Given the description of an element on the screen output the (x, y) to click on. 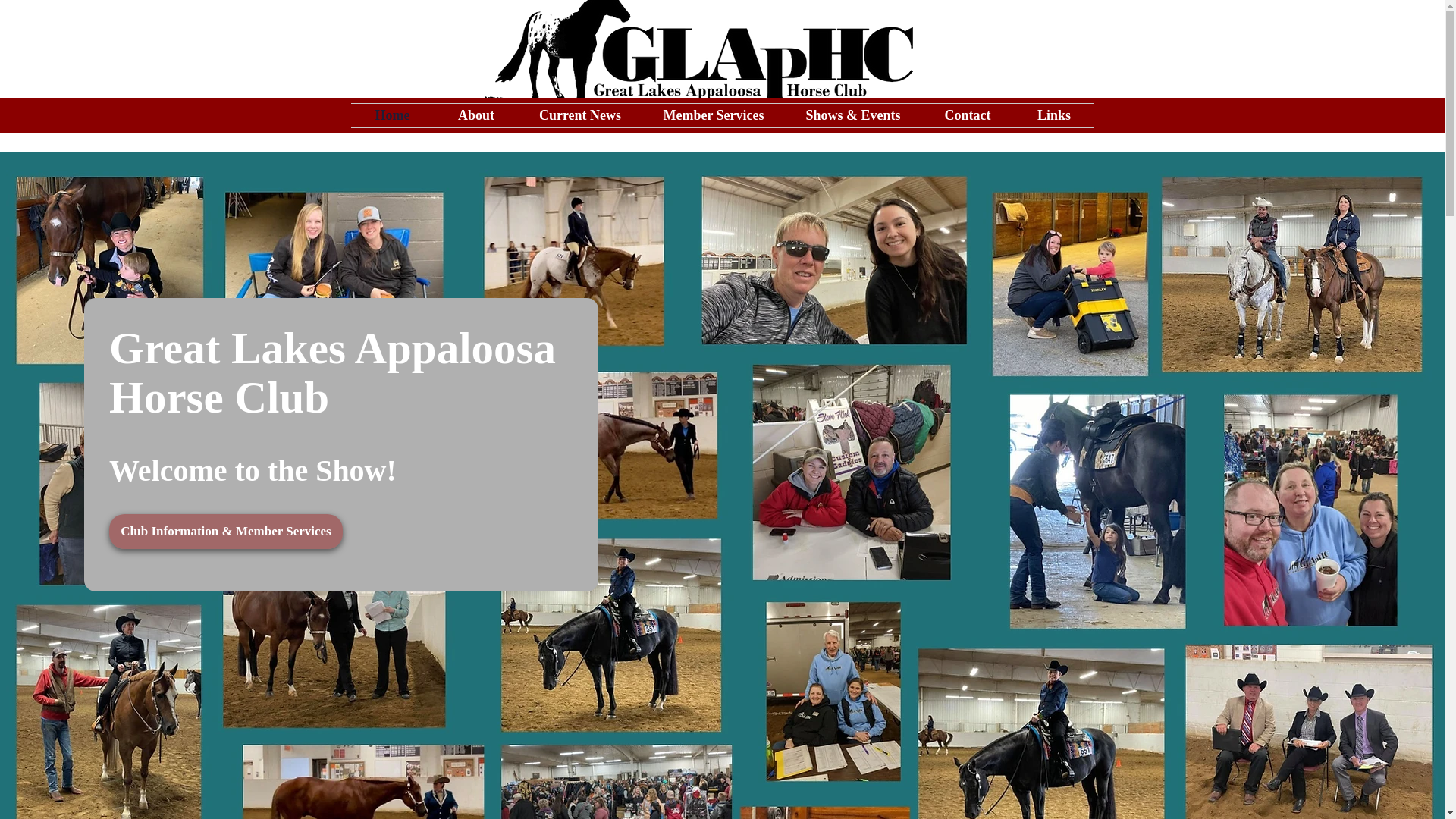
Member Services (713, 115)
Links (1054, 115)
Current News (580, 115)
About (475, 115)
Home (391, 115)
Contact (966, 115)
